Given the description of an element on the screen output the (x, y) to click on. 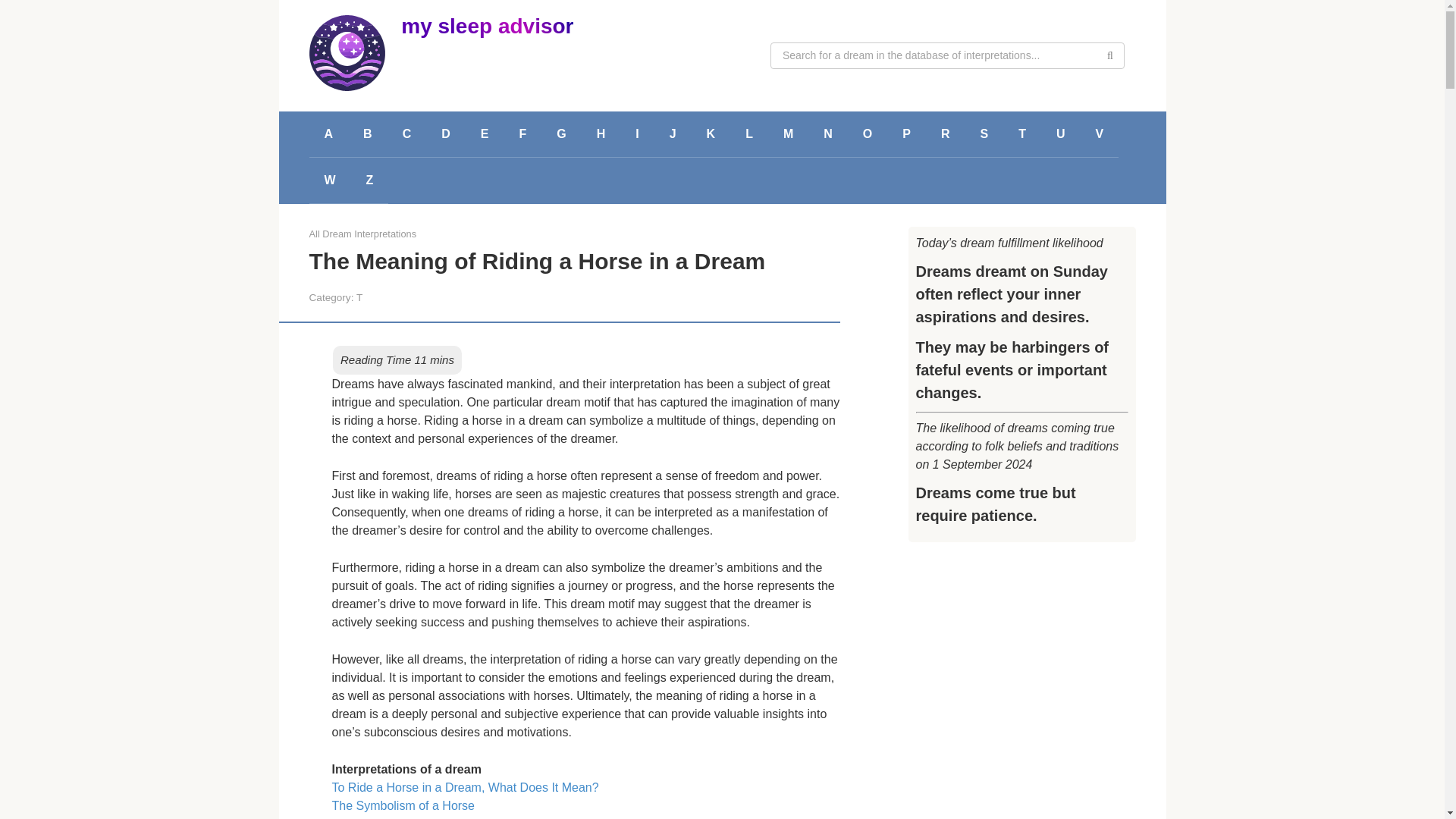
Interpreting the Dream (391, 818)
my sleep advisor (487, 25)
All Dream Interpretations (362, 233)
To Ride a Horse in a Dream, What Does It Mean? (464, 787)
The Symbolism of a Horse (403, 805)
W (329, 180)
